Given the description of an element on the screen output the (x, y) to click on. 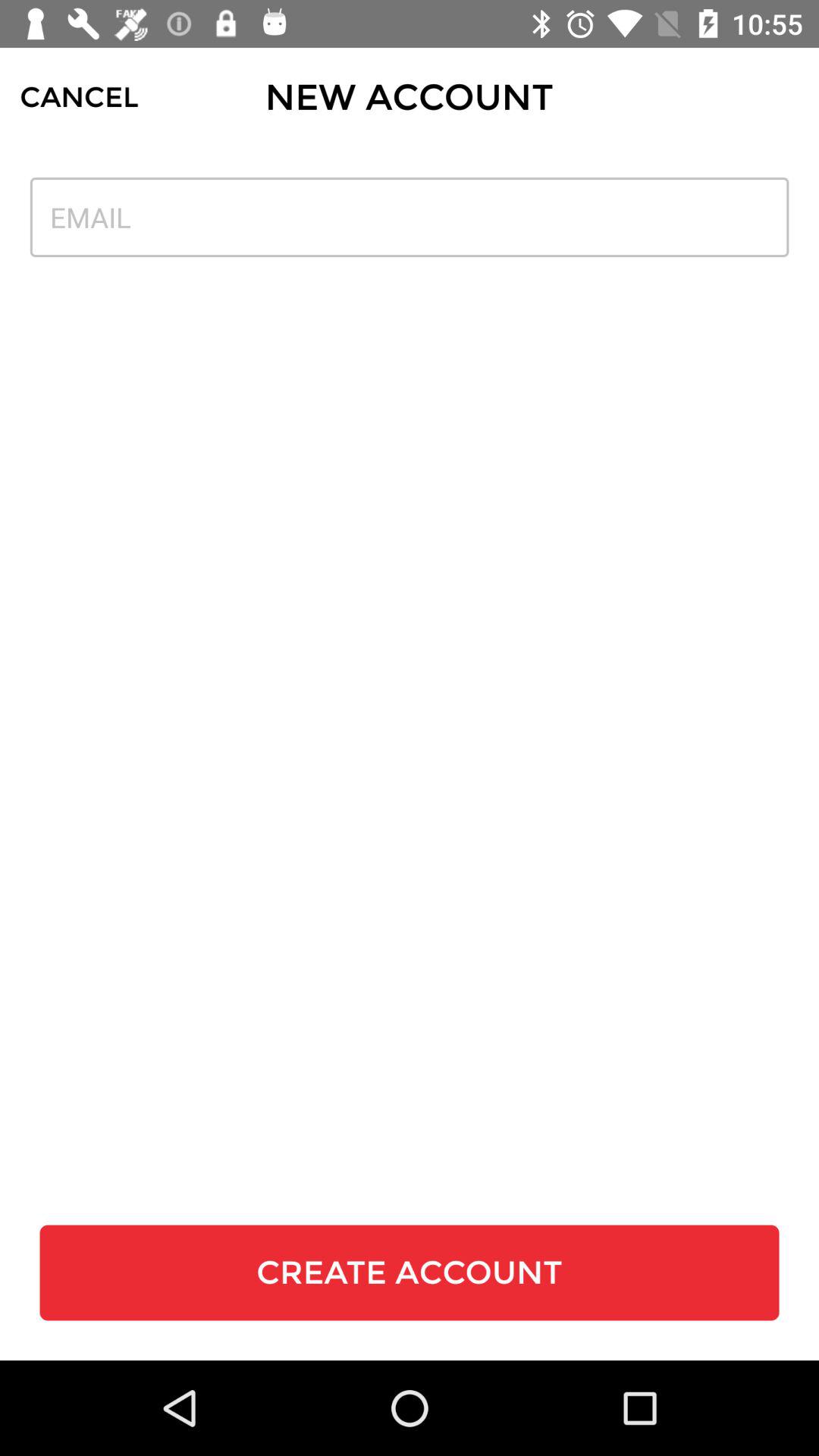
scroll to the cancel (78, 97)
